Given the description of an element on the screen output the (x, y) to click on. 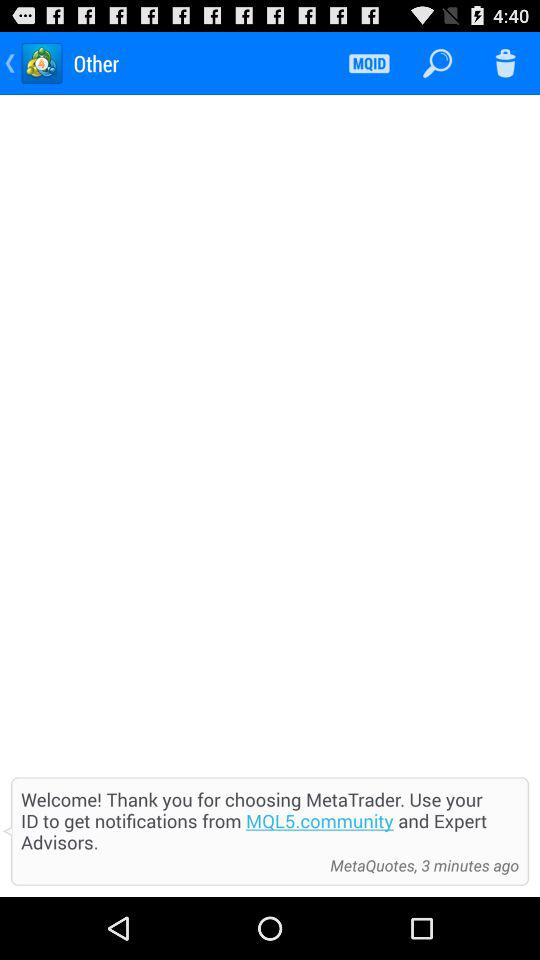
choose the metaquotes 3 minutes (419, 865)
